Given the description of an element on the screen output the (x, y) to click on. 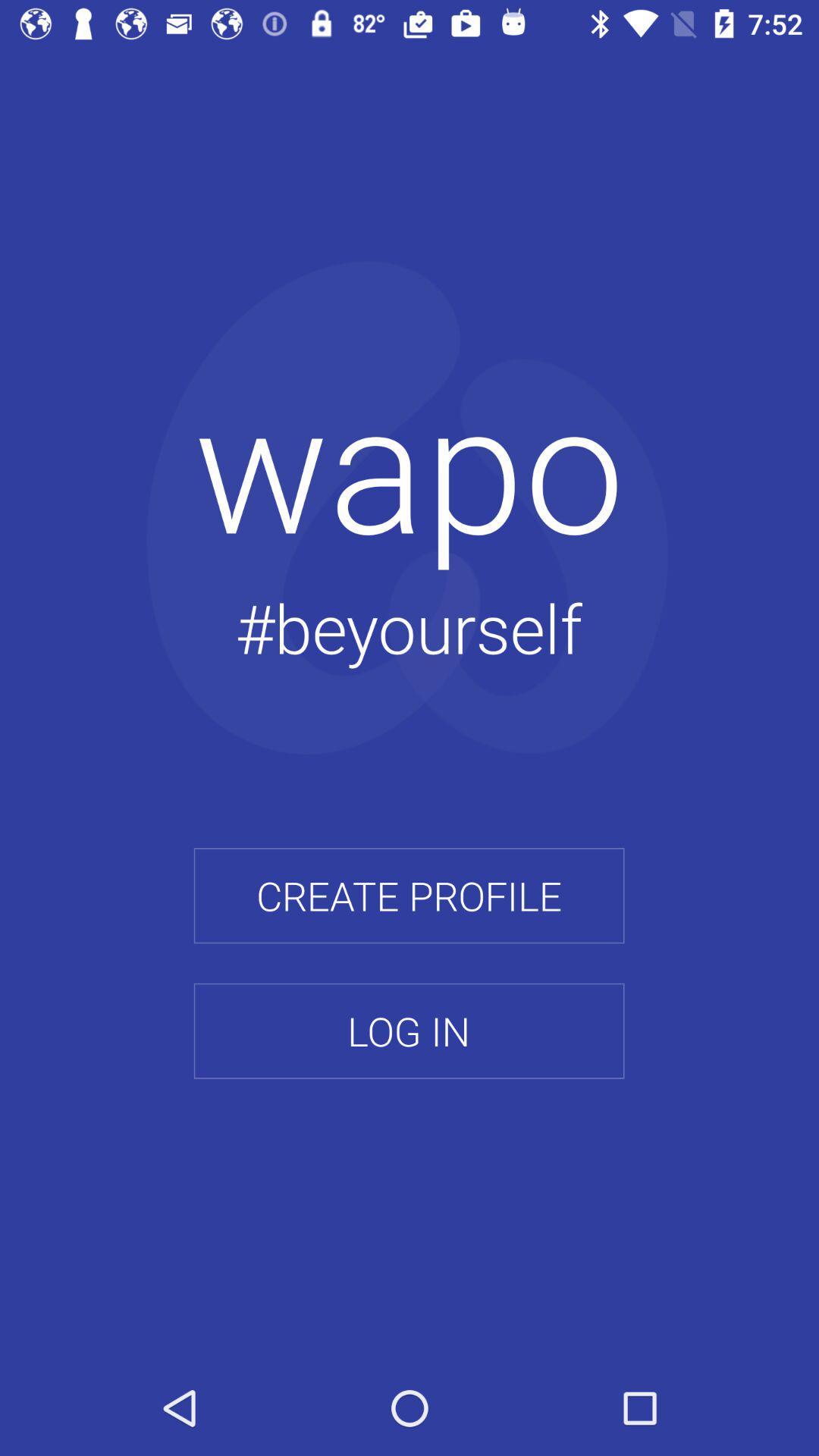
select icon below the create profile (408, 1030)
